Given the description of an element on the screen output the (x, y) to click on. 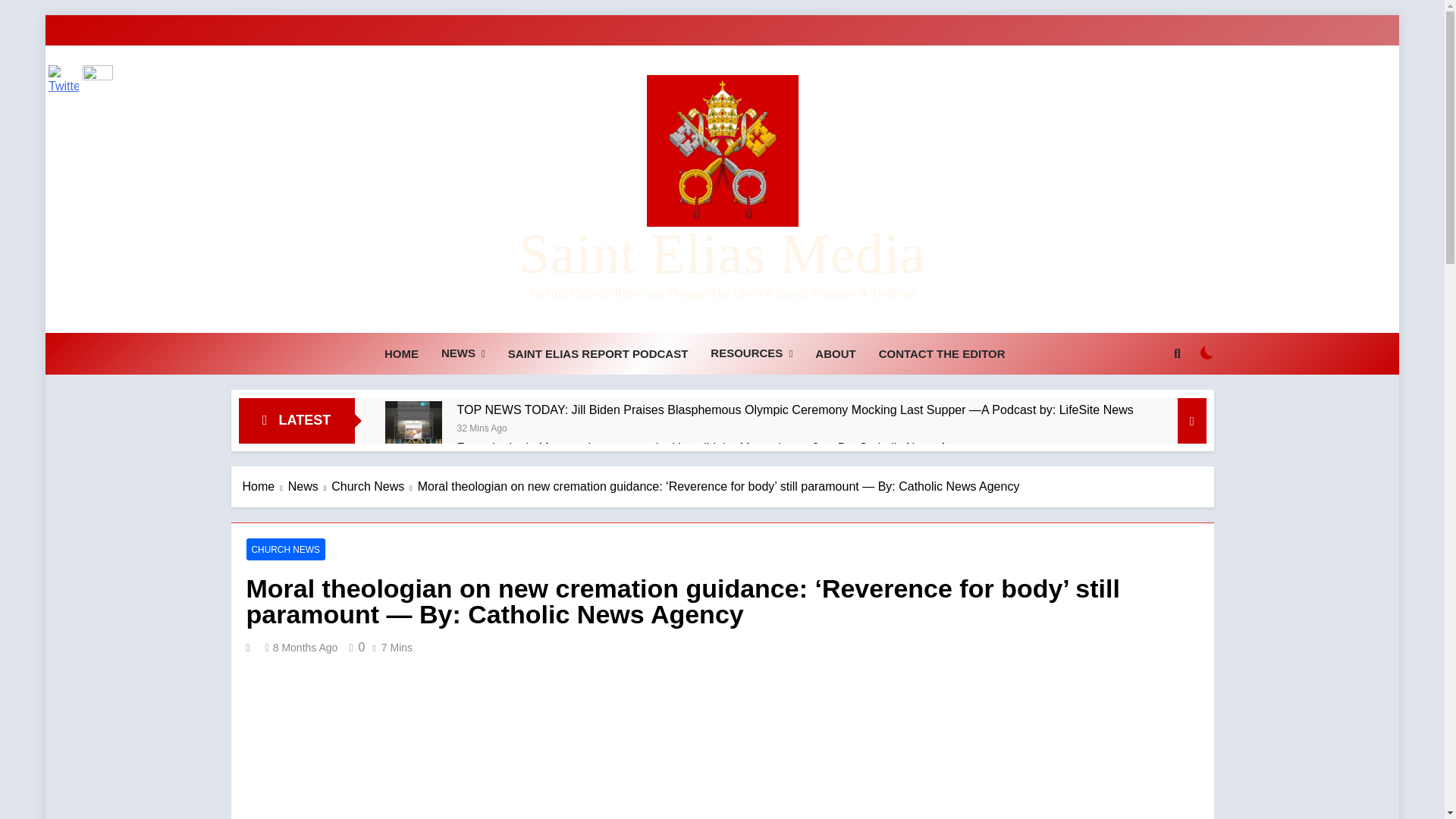
HOME (400, 353)
RESOURCES (750, 353)
Saint Elias Media (721, 254)
on (1206, 352)
NEWS (462, 353)
SAINT ELIAS REPORT PODCAST (598, 353)
ABOUT (834, 353)
CONTACT THE EDITOR (941, 353)
32 Mins Ago (481, 427)
